Given the description of an element on the screen output the (x, y) to click on. 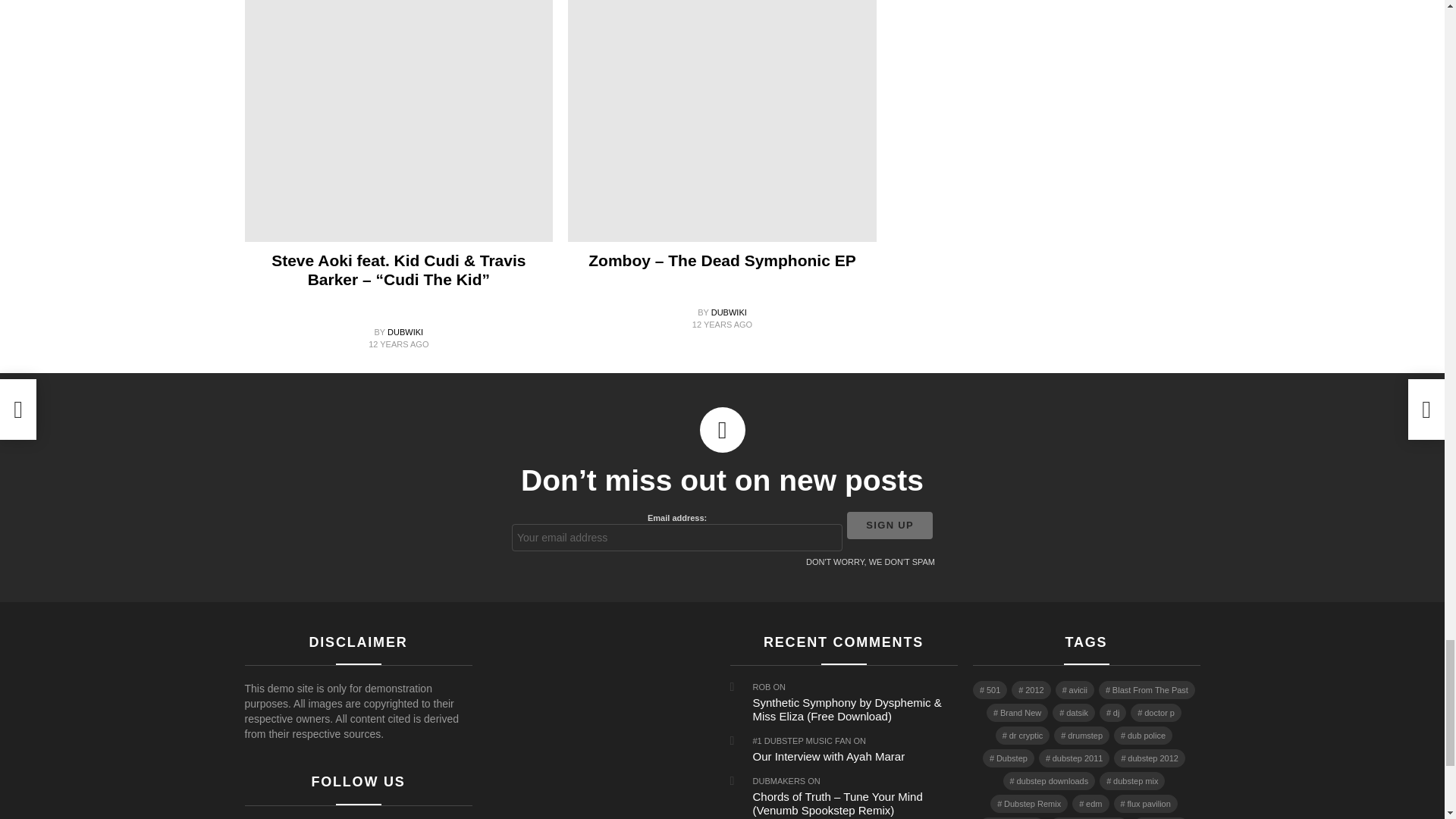
Sign up (890, 524)
